Given the description of an element on the screen output the (x, y) to click on. 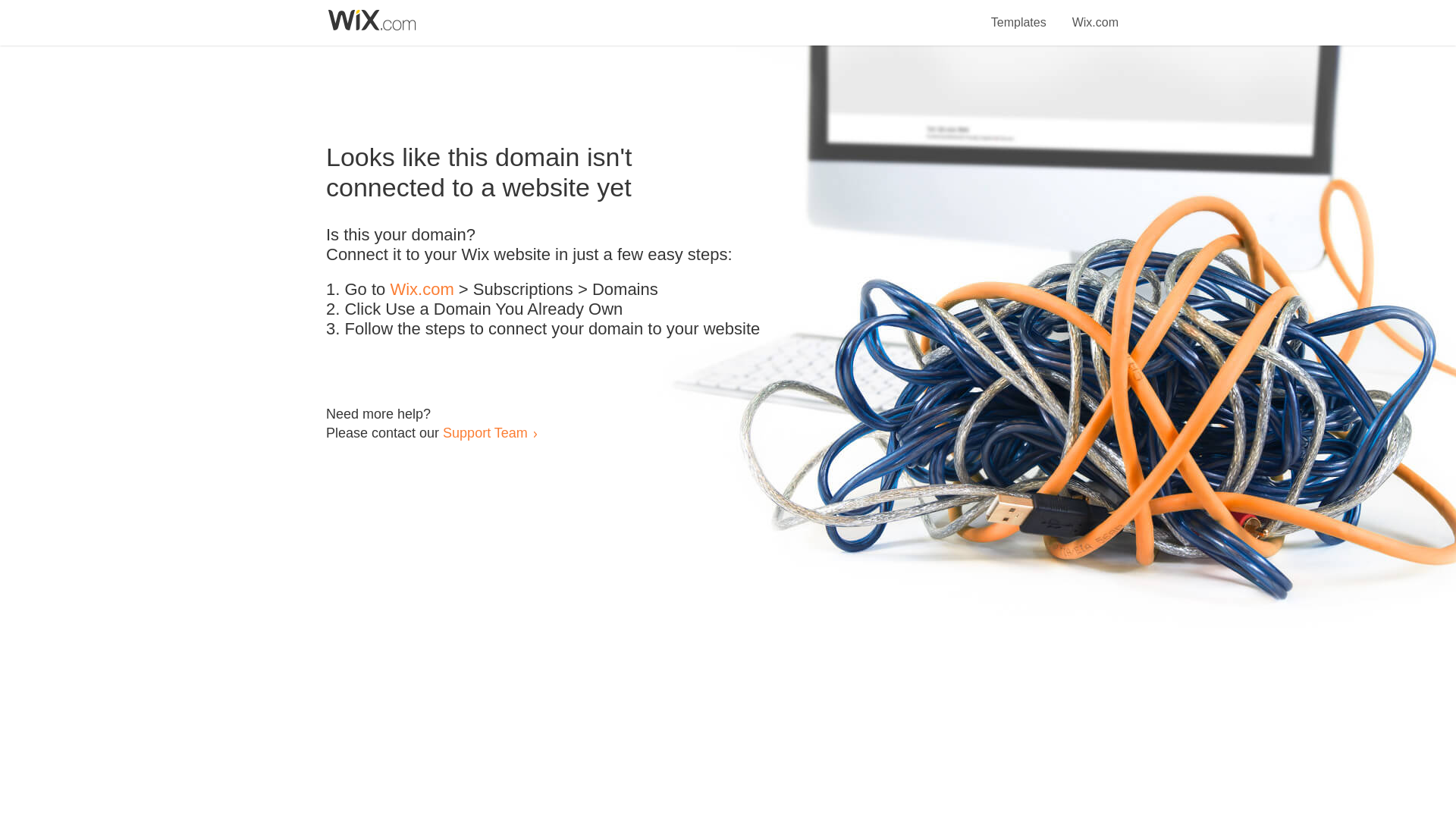
Support Team (484, 432)
Templates (1018, 14)
Wix.com (421, 289)
Wix.com (1095, 14)
